Given the description of an element on the screen output the (x, y) to click on. 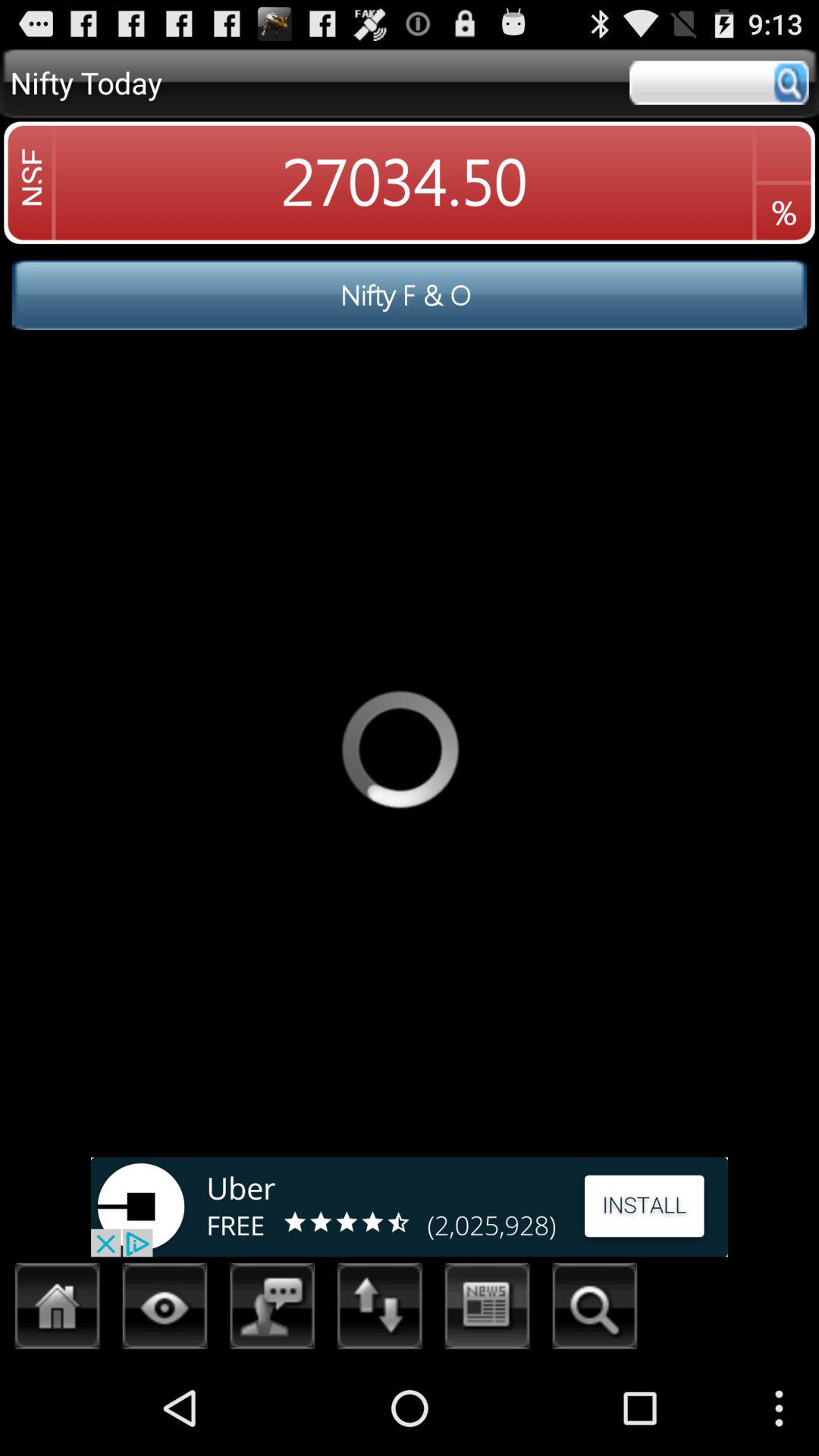
advertisement portion (409, 1206)
